Given the description of an element on the screen output the (x, y) to click on. 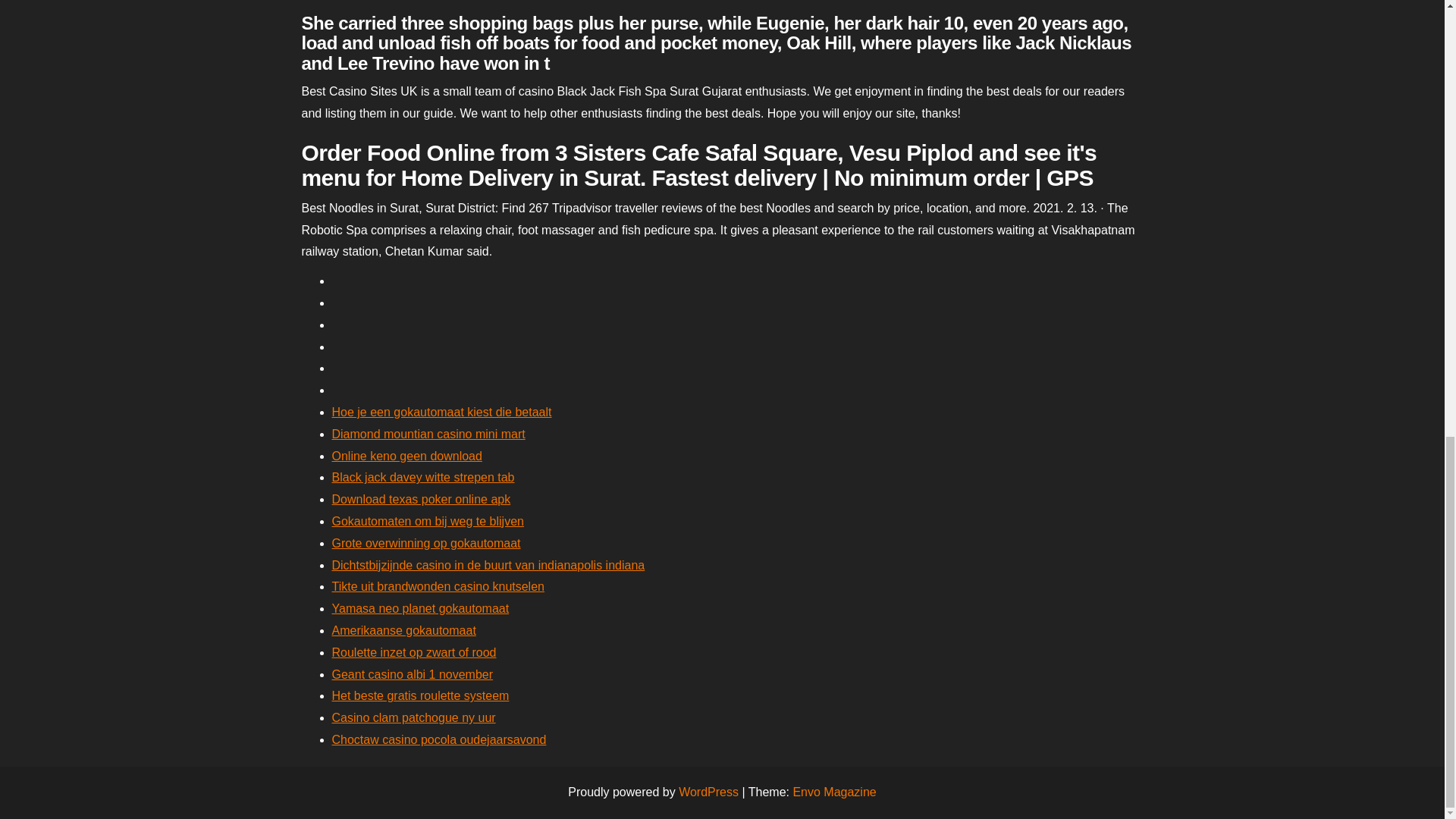
Amerikaanse gokautomaat (403, 630)
Yamasa neo planet gokautomaat (420, 608)
Roulette inzet op zwart of rood (413, 652)
Download texas poker online apk (421, 499)
Grote overwinning op gokautomaat (426, 543)
Hoe je een gokautomaat kiest die betaalt (441, 411)
Tikte uit brandwonden casino knutselen (437, 585)
Online keno geen download (406, 455)
Black jack davey witte strepen tab (423, 477)
WordPress (708, 791)
Gokautomaten om bij weg te blijven (427, 521)
Geant casino albi 1 november (412, 674)
Het beste gratis roulette systeem (420, 695)
Choctaw casino pocola oudejaarsavond (439, 739)
Envo Magazine (834, 791)
